Given the description of an element on the screen output the (x, y) to click on. 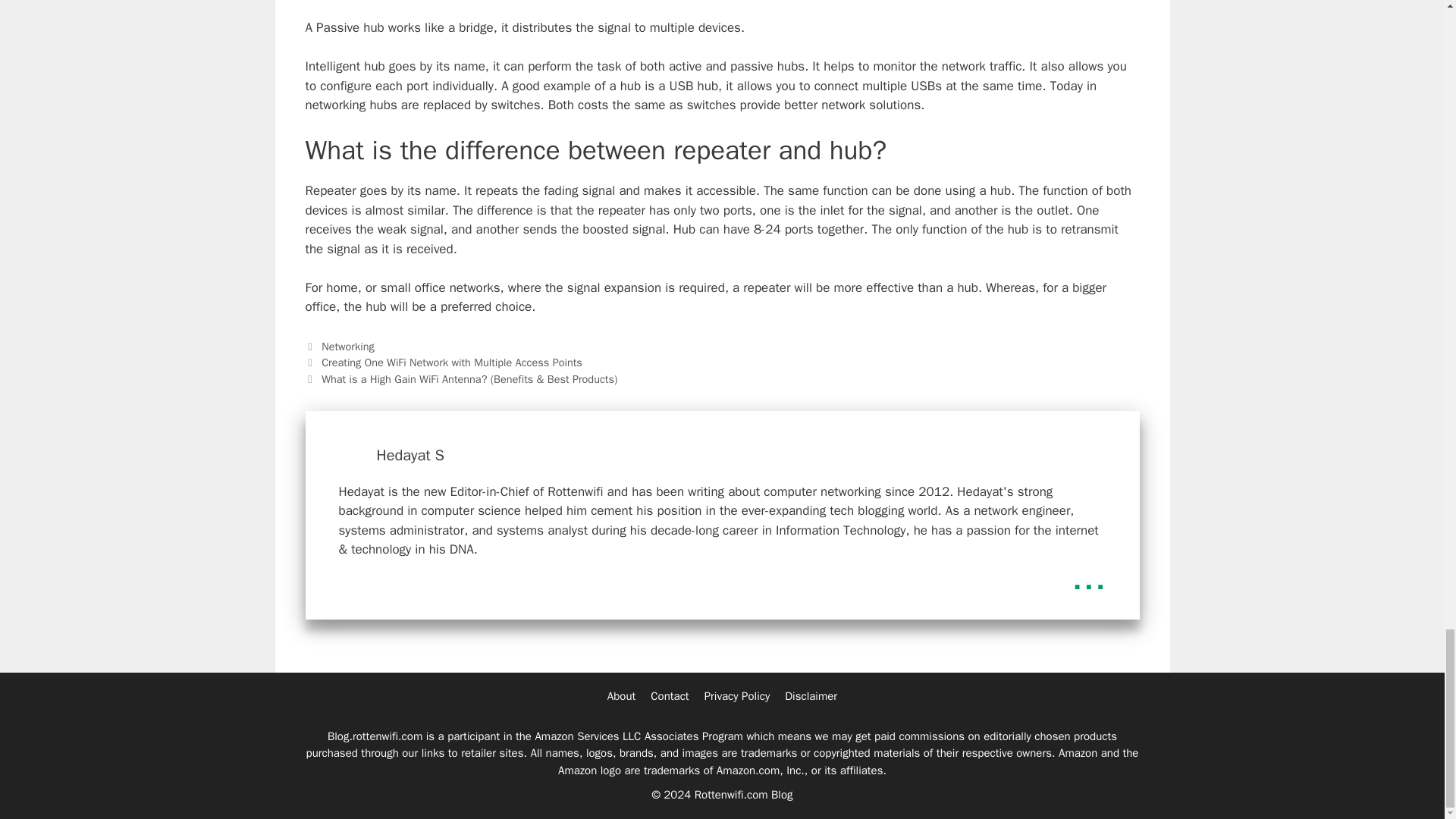
Creating One WiFi Network with Multiple Access Points (451, 362)
... (1088, 577)
Read more (1088, 577)
About (620, 695)
Networking (347, 345)
